Given the description of an element on the screen output the (x, y) to click on. 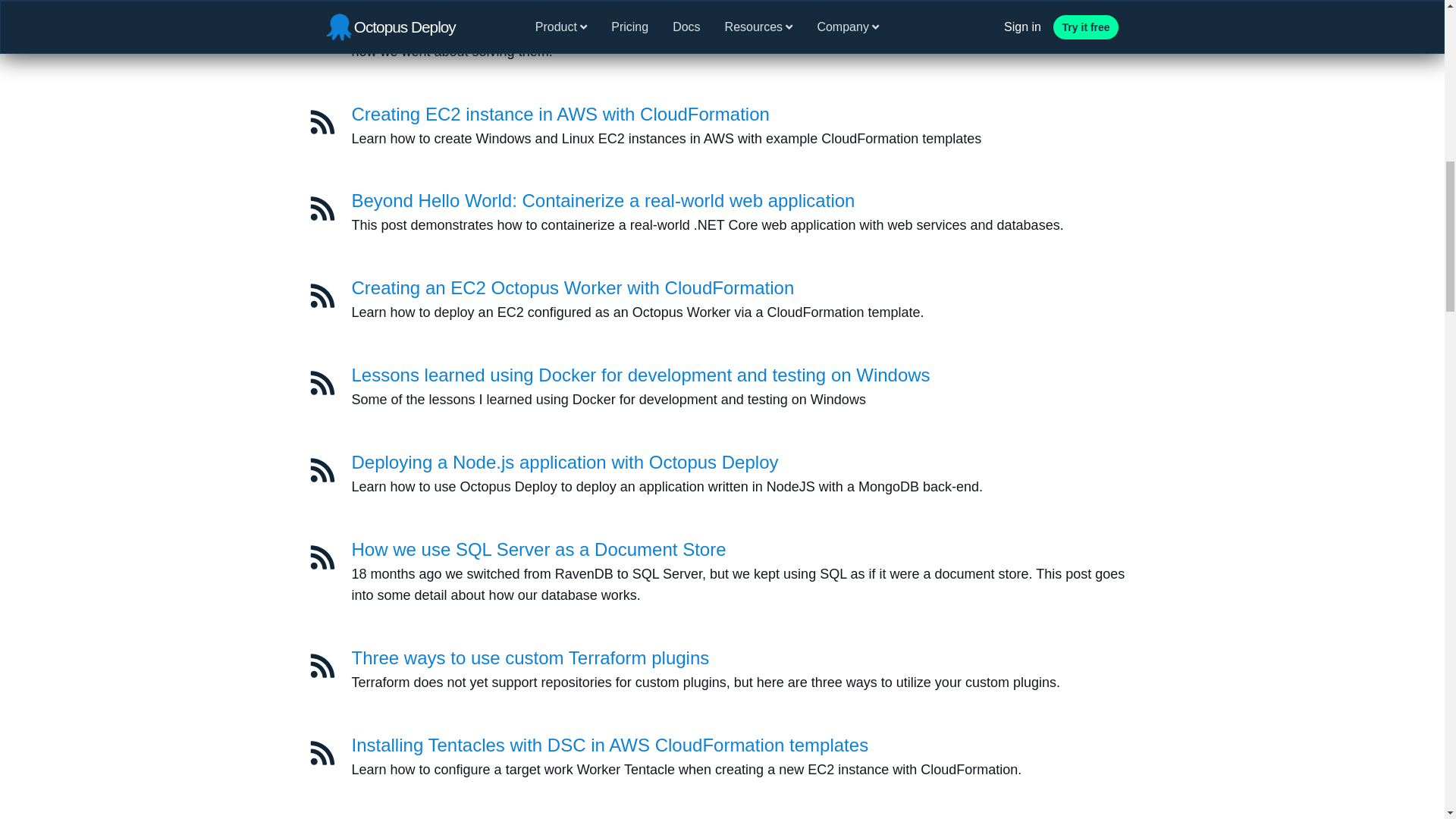
Blog post (321, 752)
Blog post (321, 295)
Blog post (321, 665)
Blog post (321, 207)
Blog post (321, 382)
Blog post (321, 665)
Blog post (321, 752)
Blog post (321, 207)
Blog post (321, 556)
Blog post (321, 470)
Blog post (321, 382)
Blog post (321, 470)
Blog post (321, 295)
Blog post (321, 556)
Blog post (321, 121)
